Given the description of an element on the screen output the (x, y) to click on. 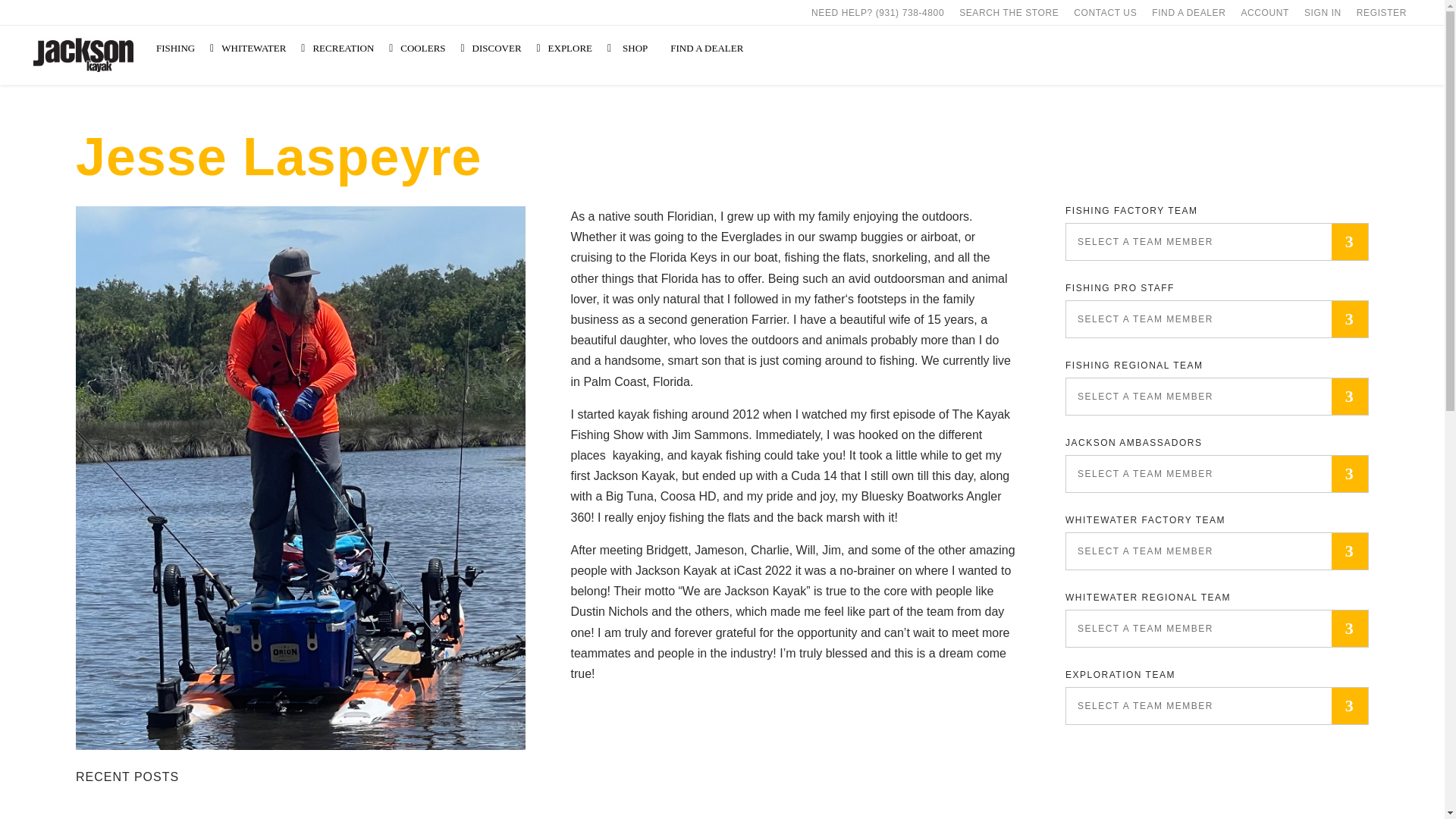
SEARCH THE STORE (1008, 12)
CONTACT US (1104, 12)
SIGN IN (1323, 12)
ACCOUNT (1265, 12)
FIND A DEALER (1188, 12)
REGISTER (1381, 12)
FISHING (181, 48)
